Given the description of an element on the screen output the (x, y) to click on. 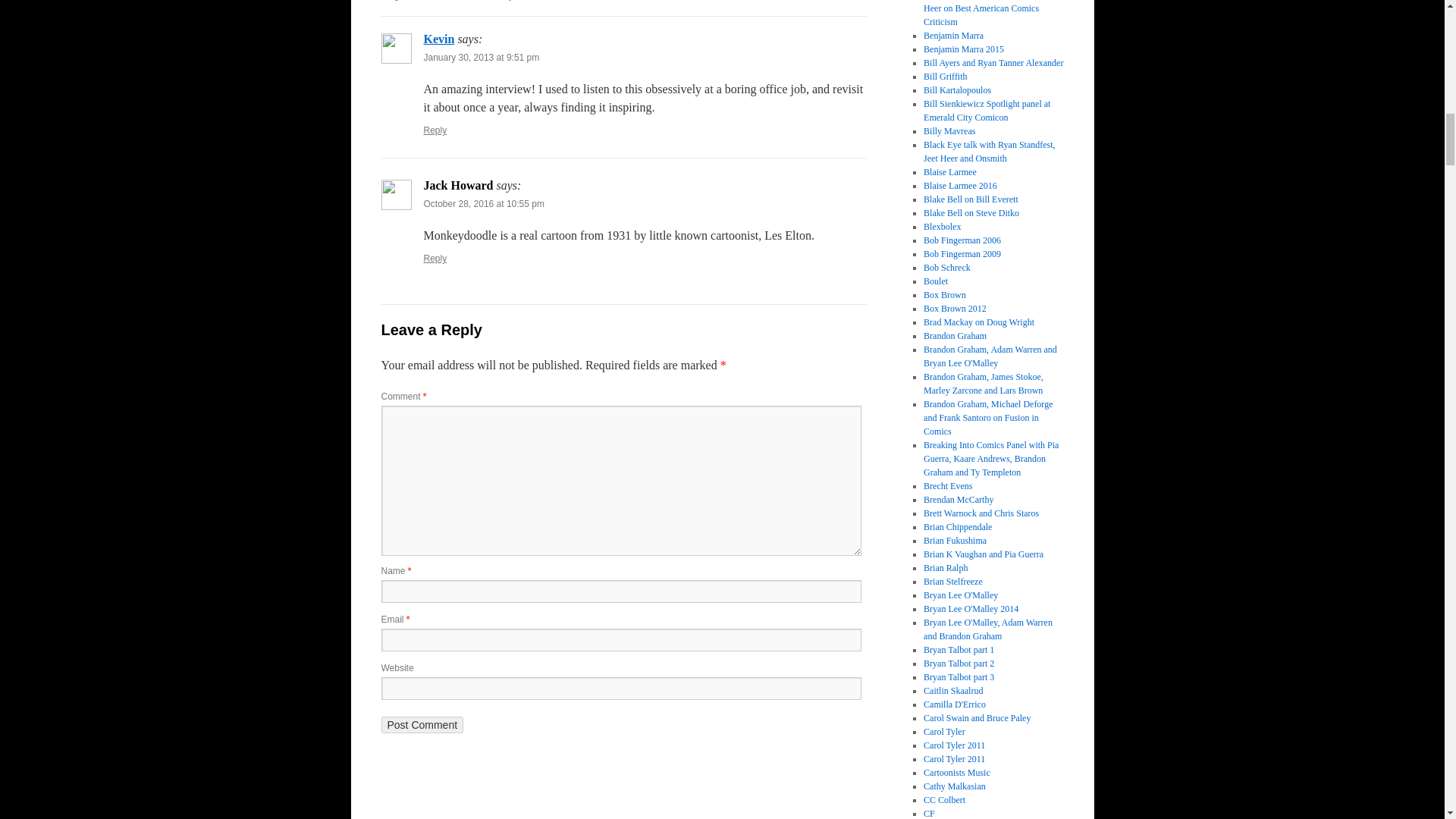
Post Comment (421, 724)
January 30, 2013 at 9:51 pm (480, 57)
Post Comment (421, 724)
Kevin (438, 38)
Reply (434, 130)
Reply (434, 258)
October 28, 2016 at 10:55 pm (483, 204)
